Given the description of an element on the screen output the (x, y) to click on. 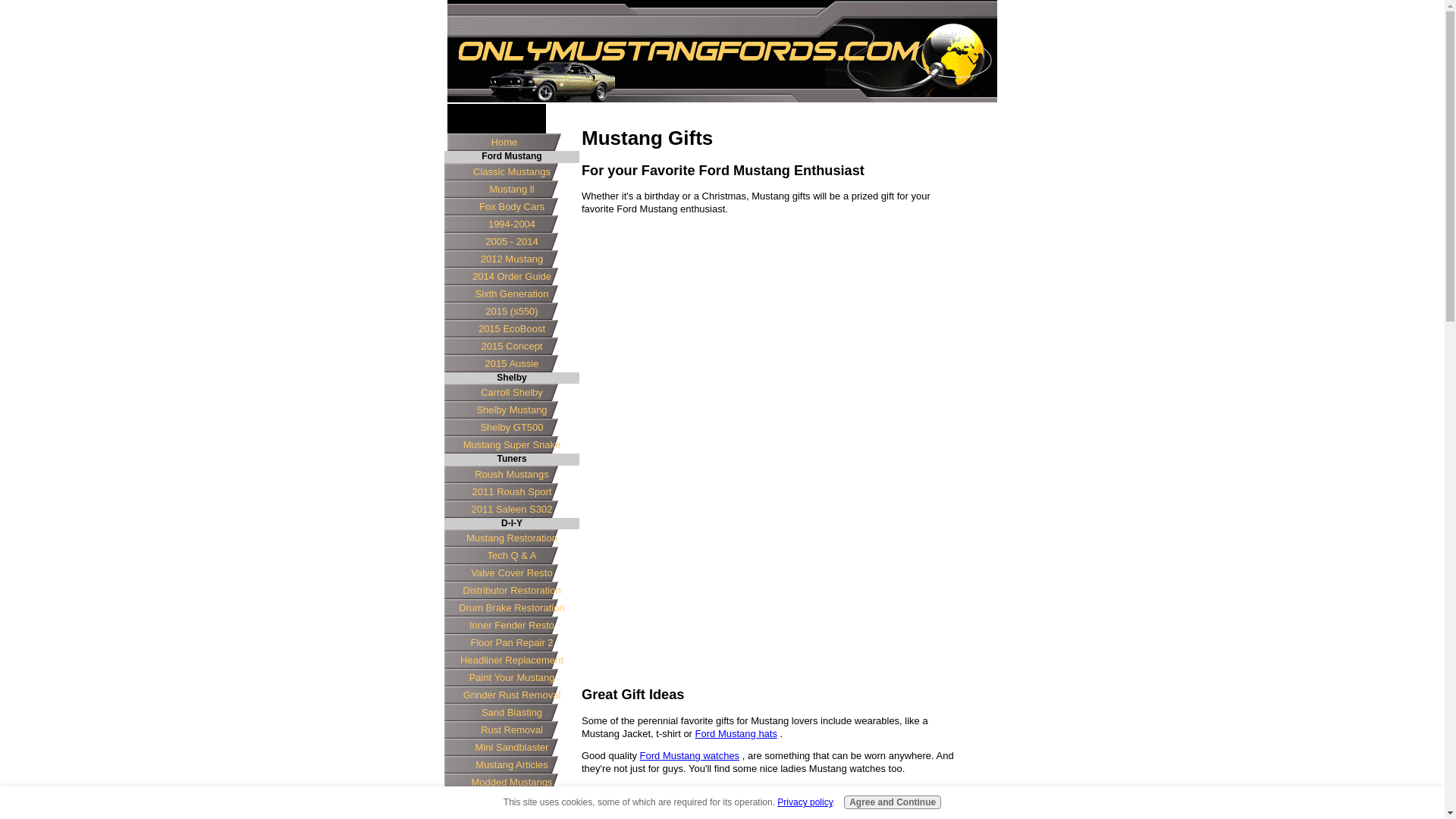
Home (503, 141)
2005 - 2014 (511, 241)
Mini Sandblaster (511, 746)
Sand Blasting (511, 712)
Paint Your Mustang (511, 677)
2015 Concept (511, 345)
Sixth Generation (511, 293)
Shelby GT500 (511, 426)
Modded Mustangs (511, 782)
Fox Body Cars (511, 206)
Mustang Parts (511, 811)
Mustang Super Snake (511, 444)
Floor Pan Repair 2 (511, 642)
Shelby Mustang (511, 409)
Carroll Shelby (511, 392)
